Given the description of an element on the screen output the (x, y) to click on. 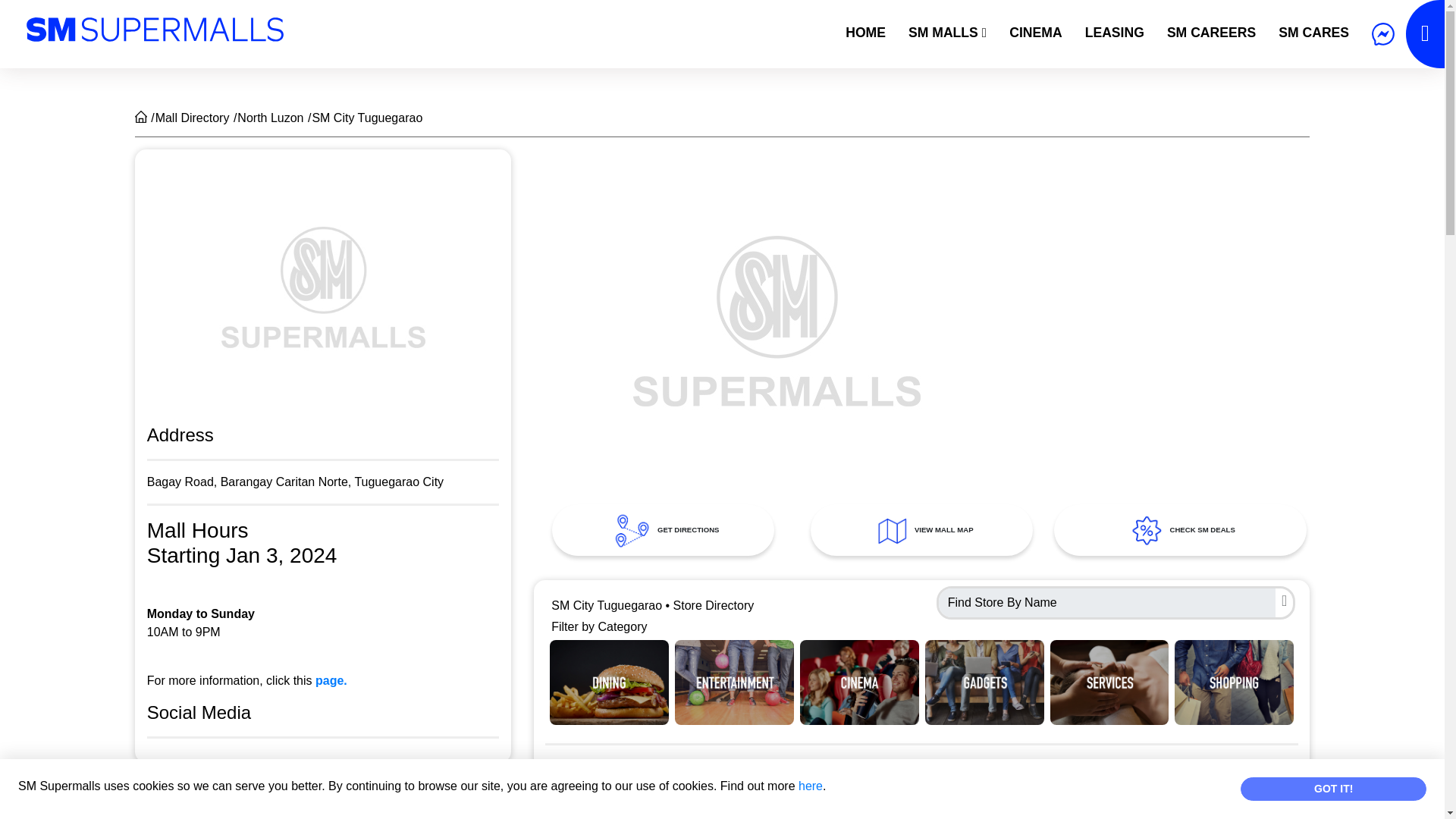
SM MALLS (946, 32)
North Luzon (269, 117)
LEASING (1115, 32)
HOME (865, 32)
SM CAREERS (1211, 32)
SM City Tuguegarao (366, 117)
GET DIRECTIONS (662, 530)
CINEMA (1035, 32)
Mall Directory (192, 117)
page. (331, 680)
